Given the description of an element on the screen output the (x, y) to click on. 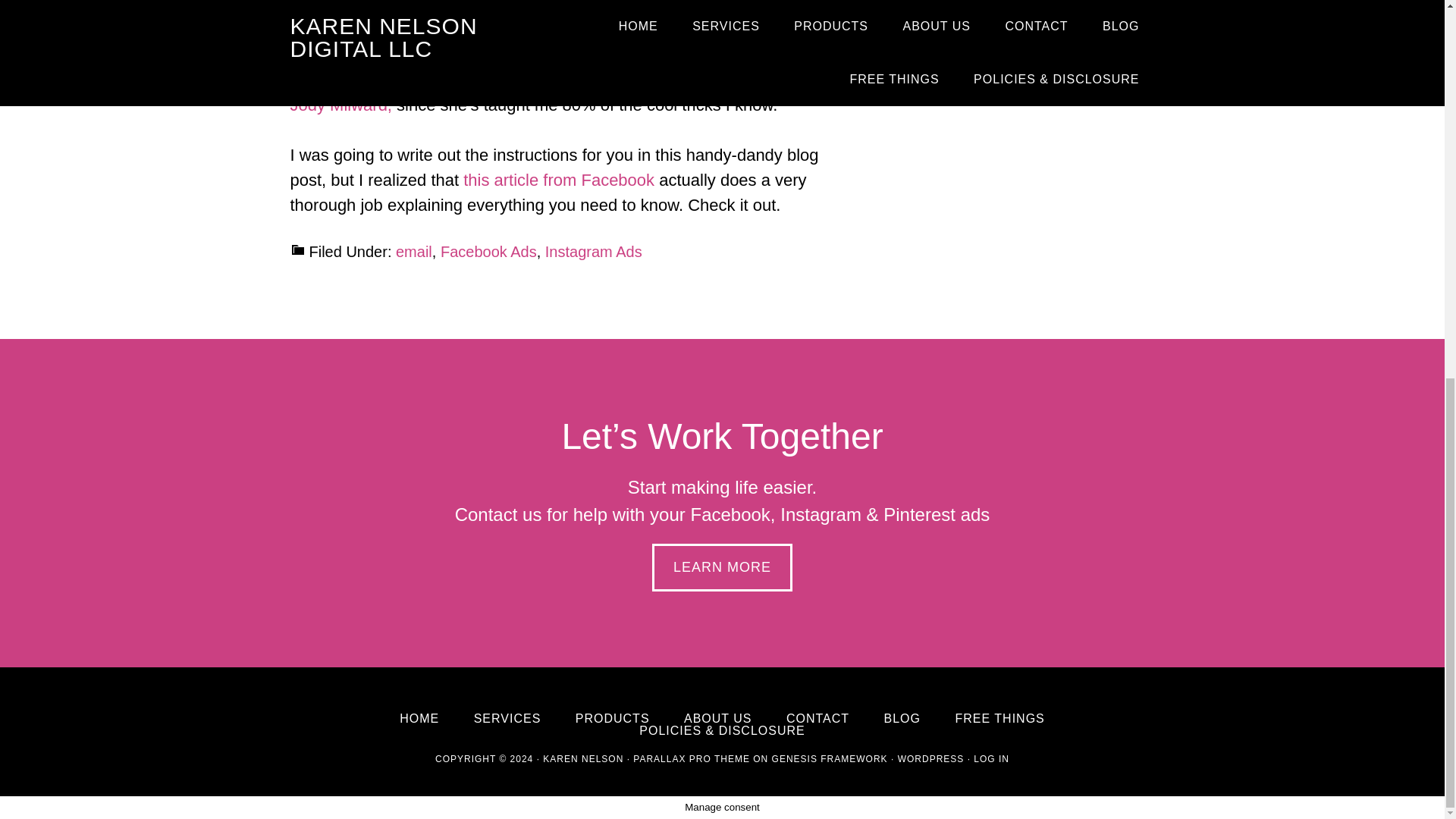
SERVICES (507, 718)
BLOG (901, 718)
FREE THINGS (999, 718)
Jody Milward, (340, 104)
LOG IN (991, 758)
LEARN MORE (722, 567)
HOME (418, 718)
CONTACT (817, 718)
PRODUCTS (612, 718)
Facebook Ads (489, 251)
